Given the description of an element on the screen output the (x, y) to click on. 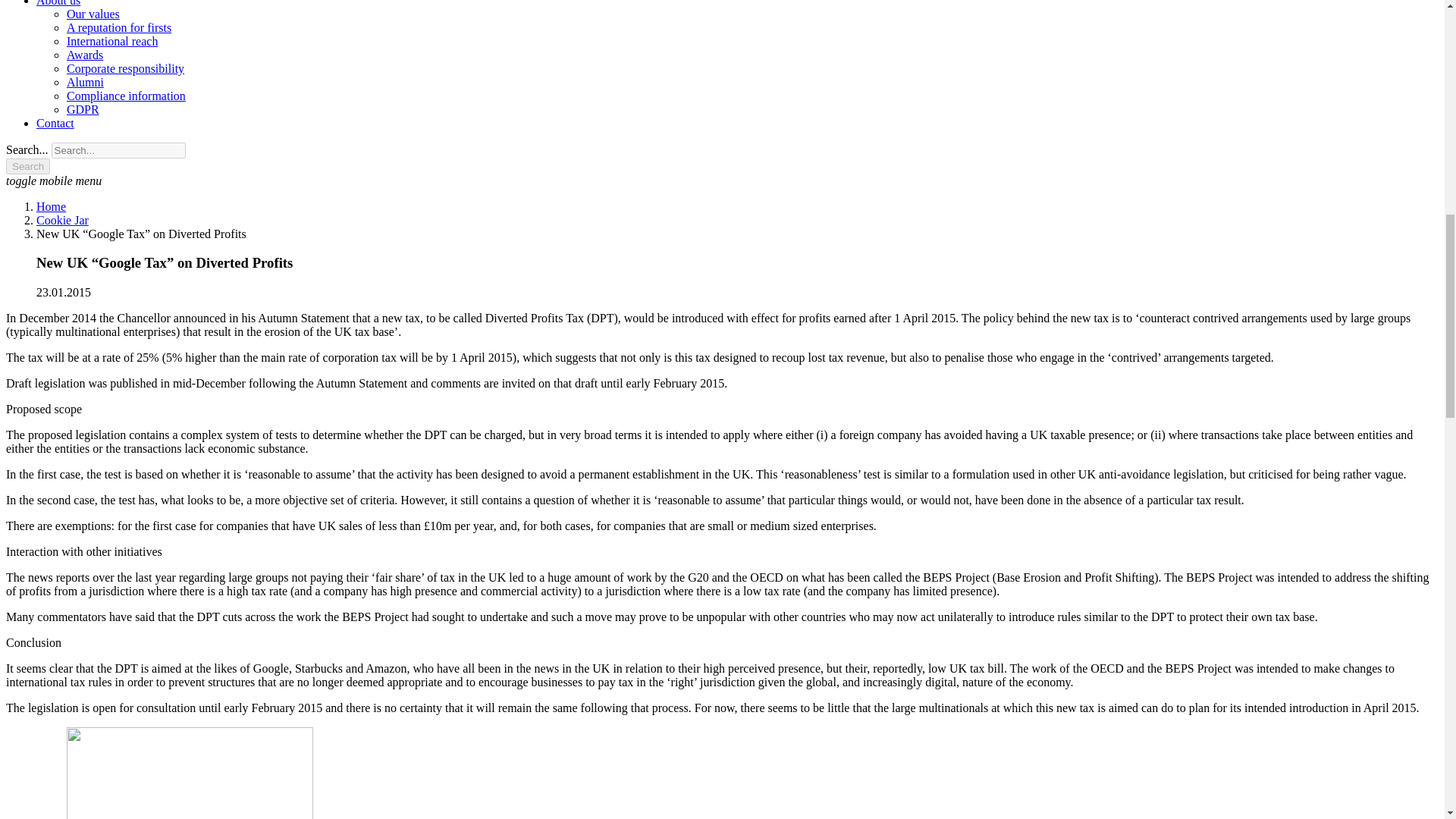
Search... (118, 150)
Search (27, 166)
Search (27, 166)
